Given the description of an element on the screen output the (x, y) to click on. 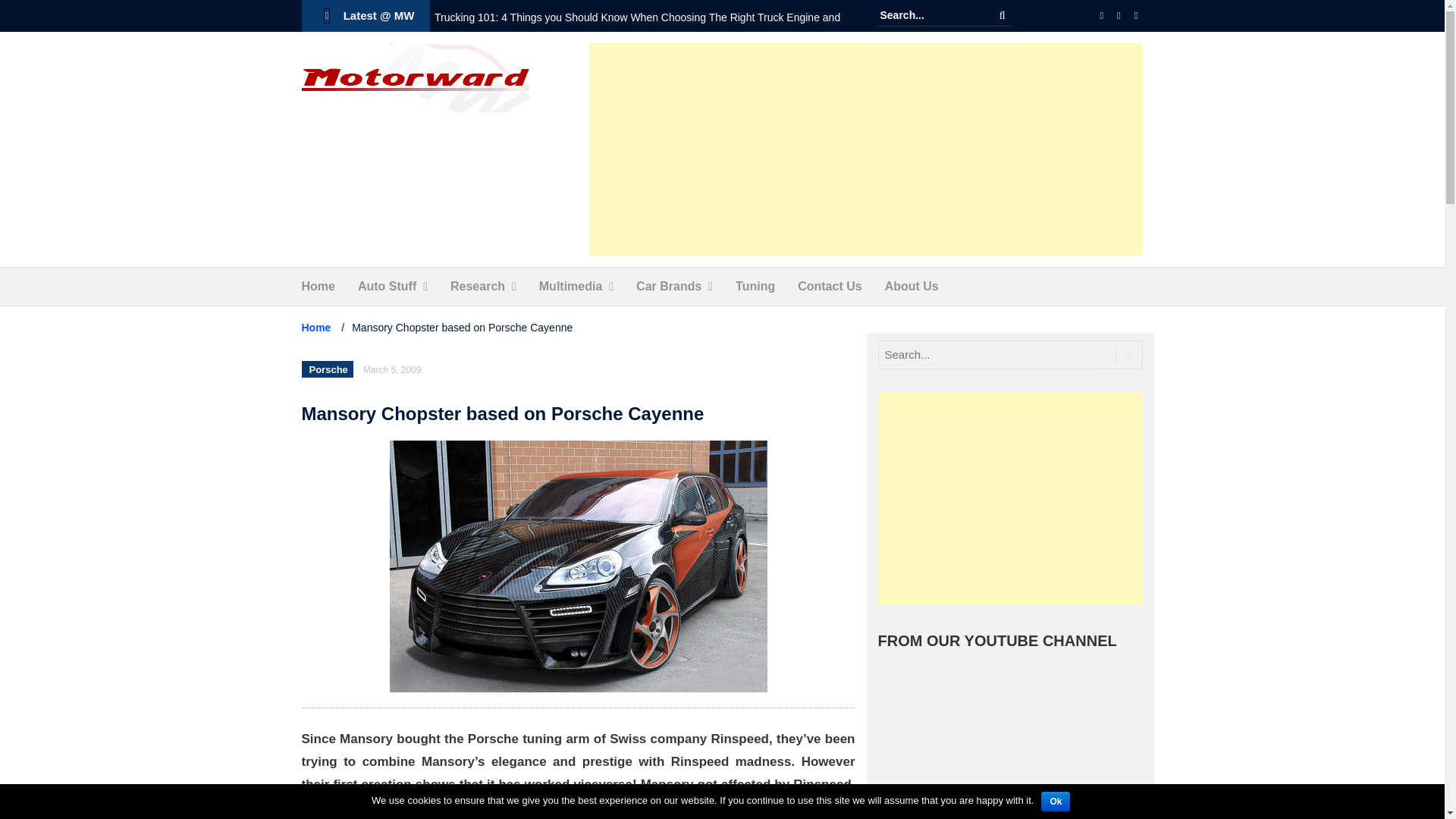
Advertisement (865, 149)
Research (477, 286)
Auto Stuff (387, 286)
Home (317, 286)
Search   (1002, 14)
mansory chopster 1 (578, 566)
